Given the description of an element on the screen output the (x, y) to click on. 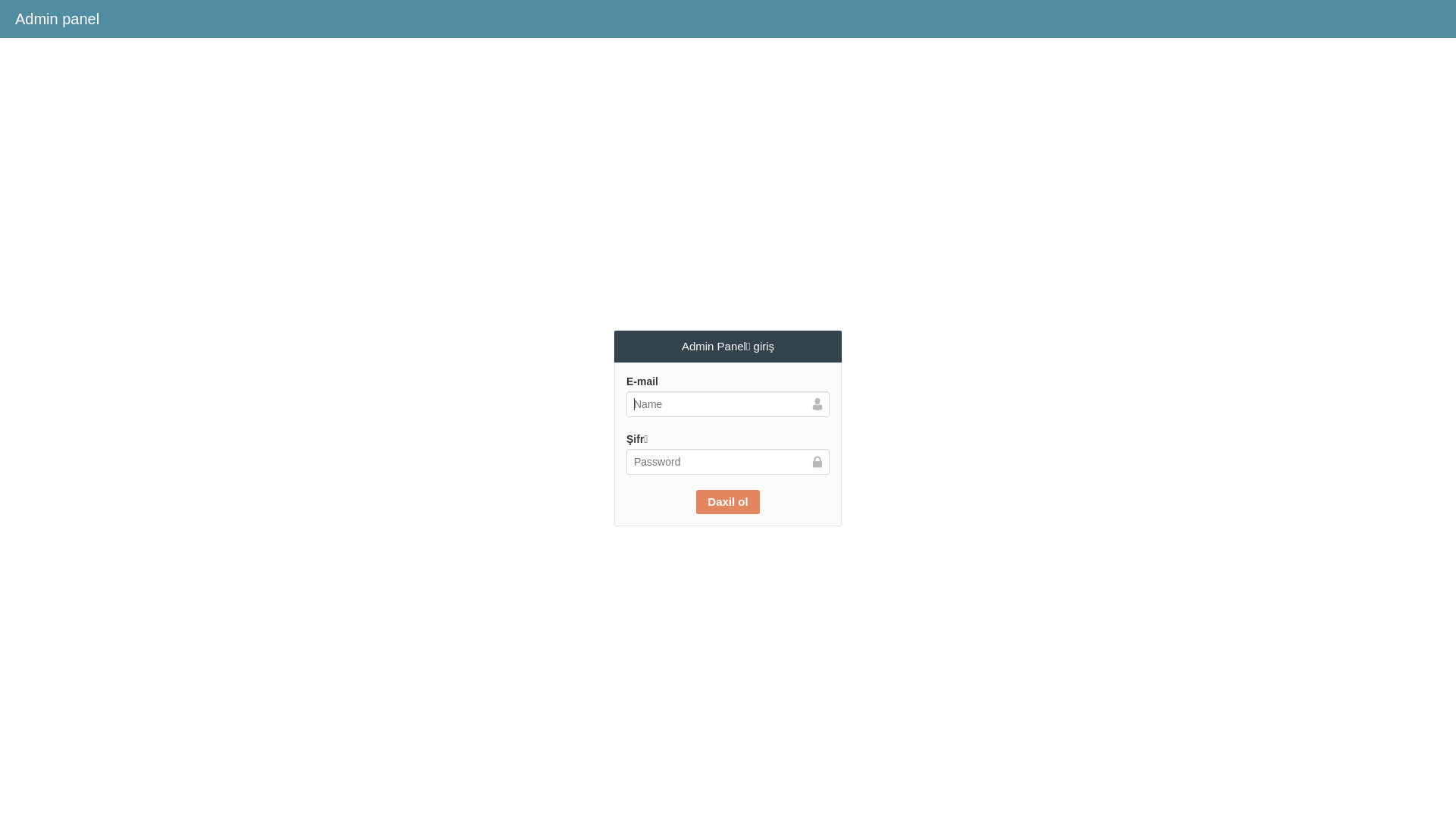
Daxil ol Element type: text (727, 501)
Admin panel Element type: text (57, 18)
